Given the description of an element on the screen output the (x, y) to click on. 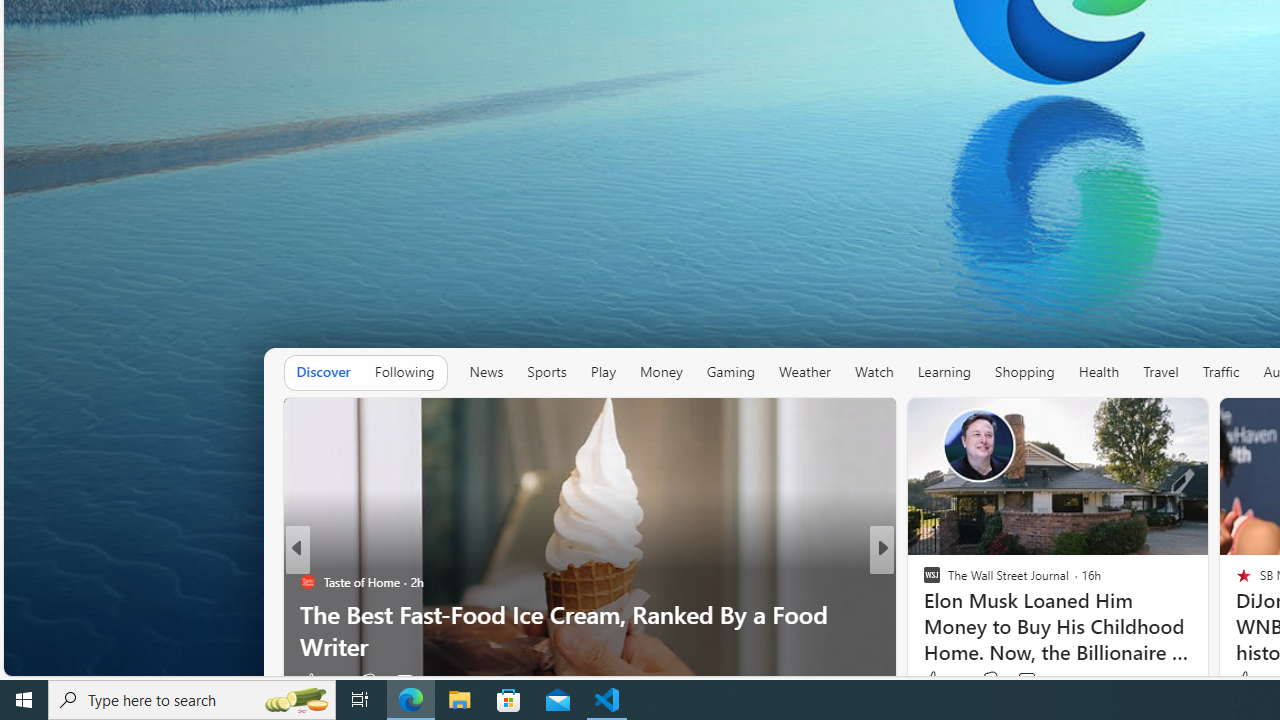
445 Like (936, 681)
View comments 13 Comment (1029, 681)
Shopping (1025, 371)
Sports (546, 371)
109 Like (936, 681)
Weather (804, 372)
Money (661, 372)
Travel (1160, 371)
View comments 91 Comment (1029, 681)
View comments 91 Comment (1019, 681)
71 Like (934, 681)
Play (602, 371)
